Given the description of an element on the screen output the (x, y) to click on. 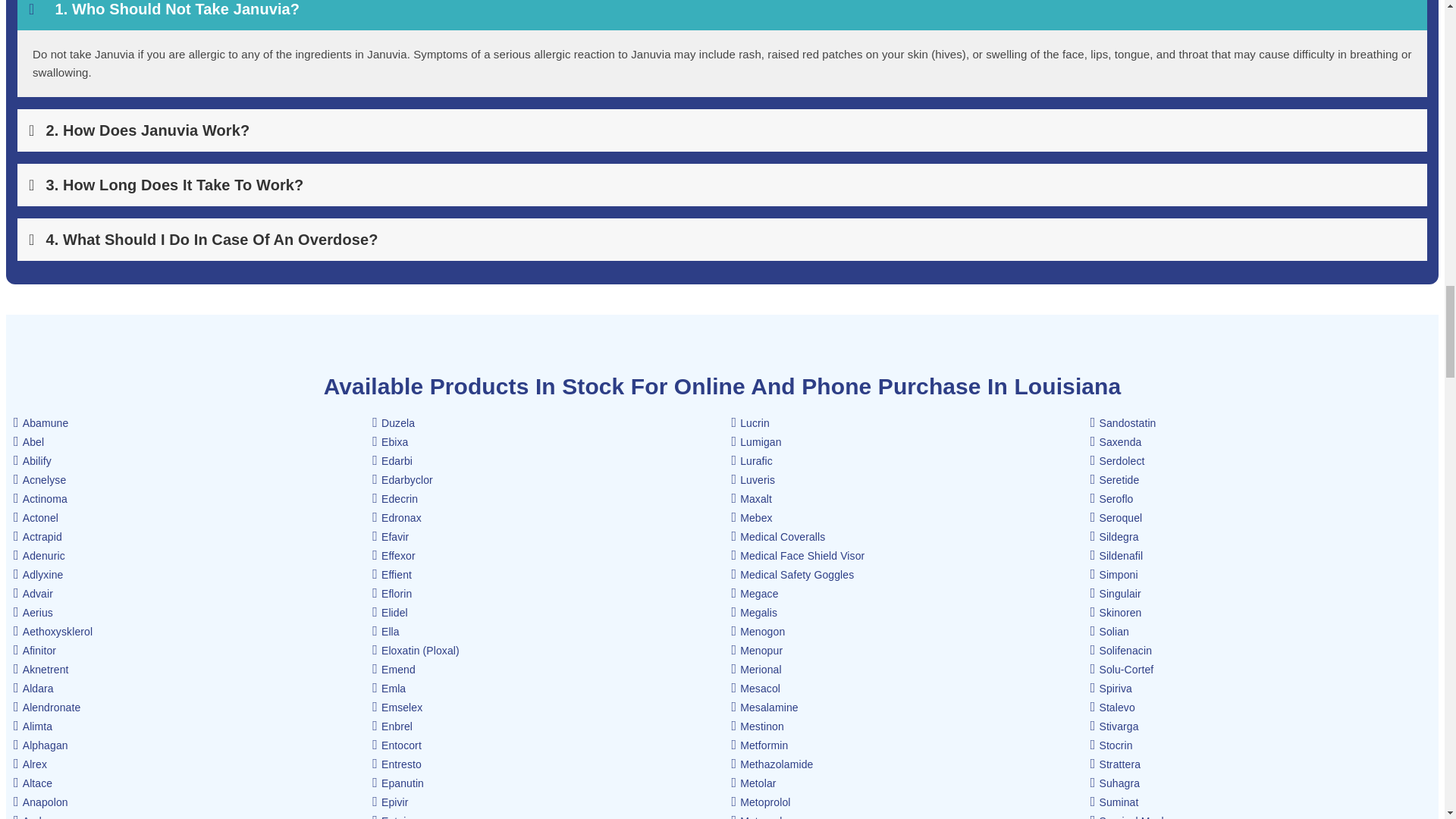
Afinitor (34, 650)
Aethoxysklerol (53, 631)
Aknetrent (40, 669)
Actinoma (39, 499)
Advair (32, 593)
Alimta (32, 726)
Actonel (35, 517)
Actrapid (37, 536)
Alendronate (46, 707)
Abilify (31, 460)
